Given the description of an element on the screen output the (x, y) to click on. 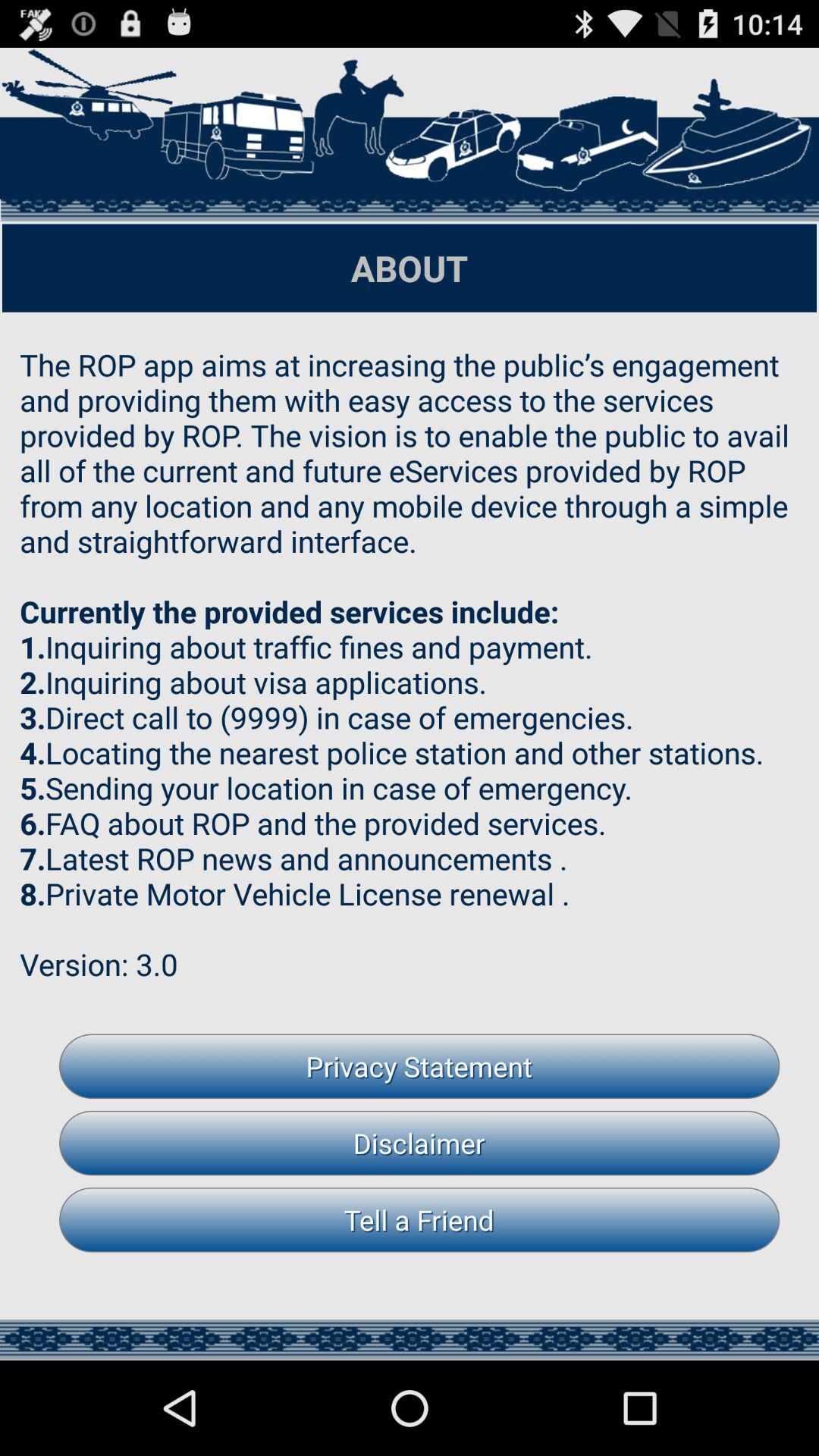
open the app below the the rop app (419, 1065)
